Given the description of an element on the screen output the (x, y) to click on. 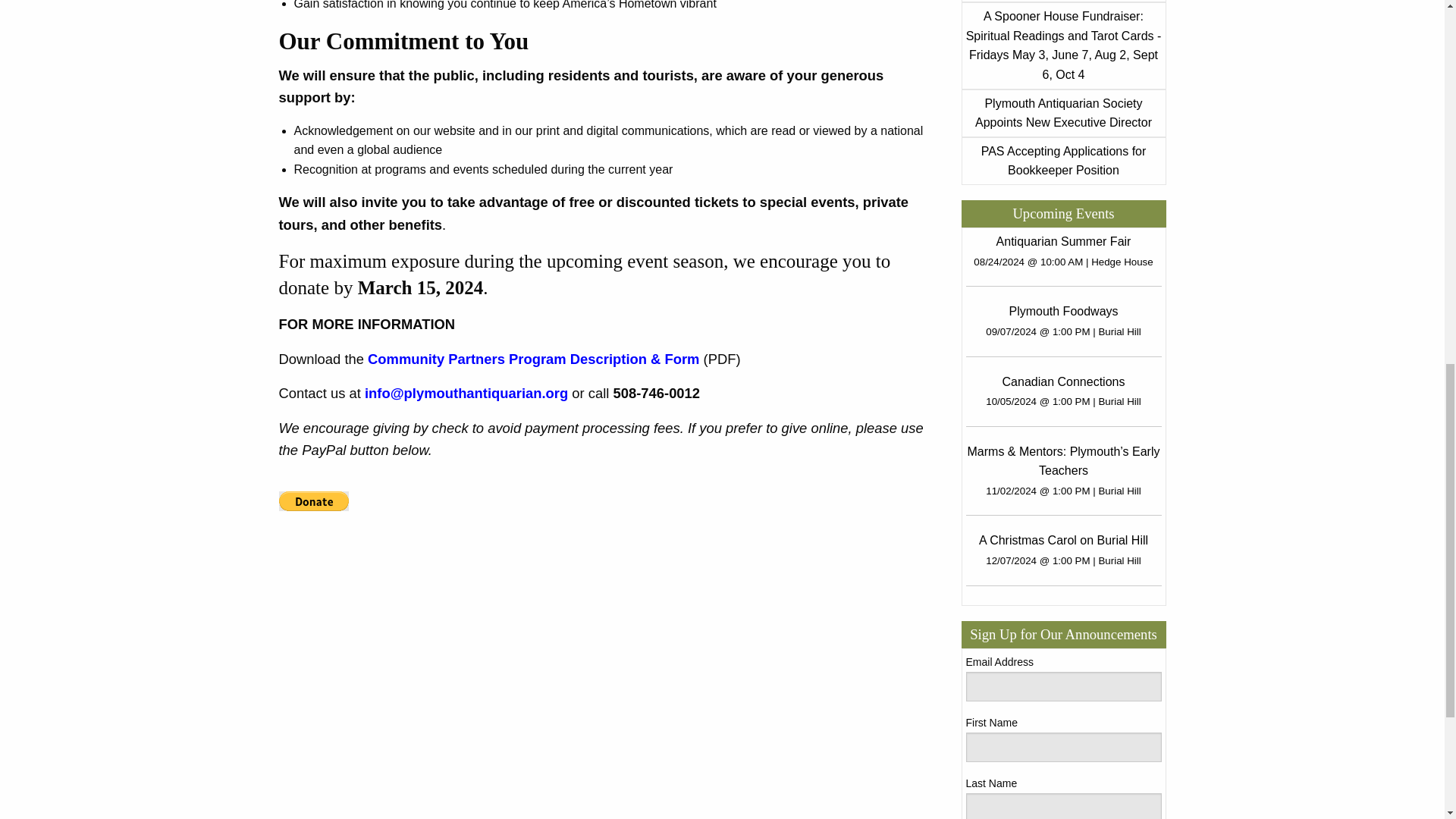
PAS Accepting Applications for Bookkeeper Position (1064, 160)
Plymouth Antiquarian Society Appoints New Executive Director (1063, 113)
PayPal - The safer, easier way to pay online! (314, 501)
